Given the description of an element on the screen output the (x, y) to click on. 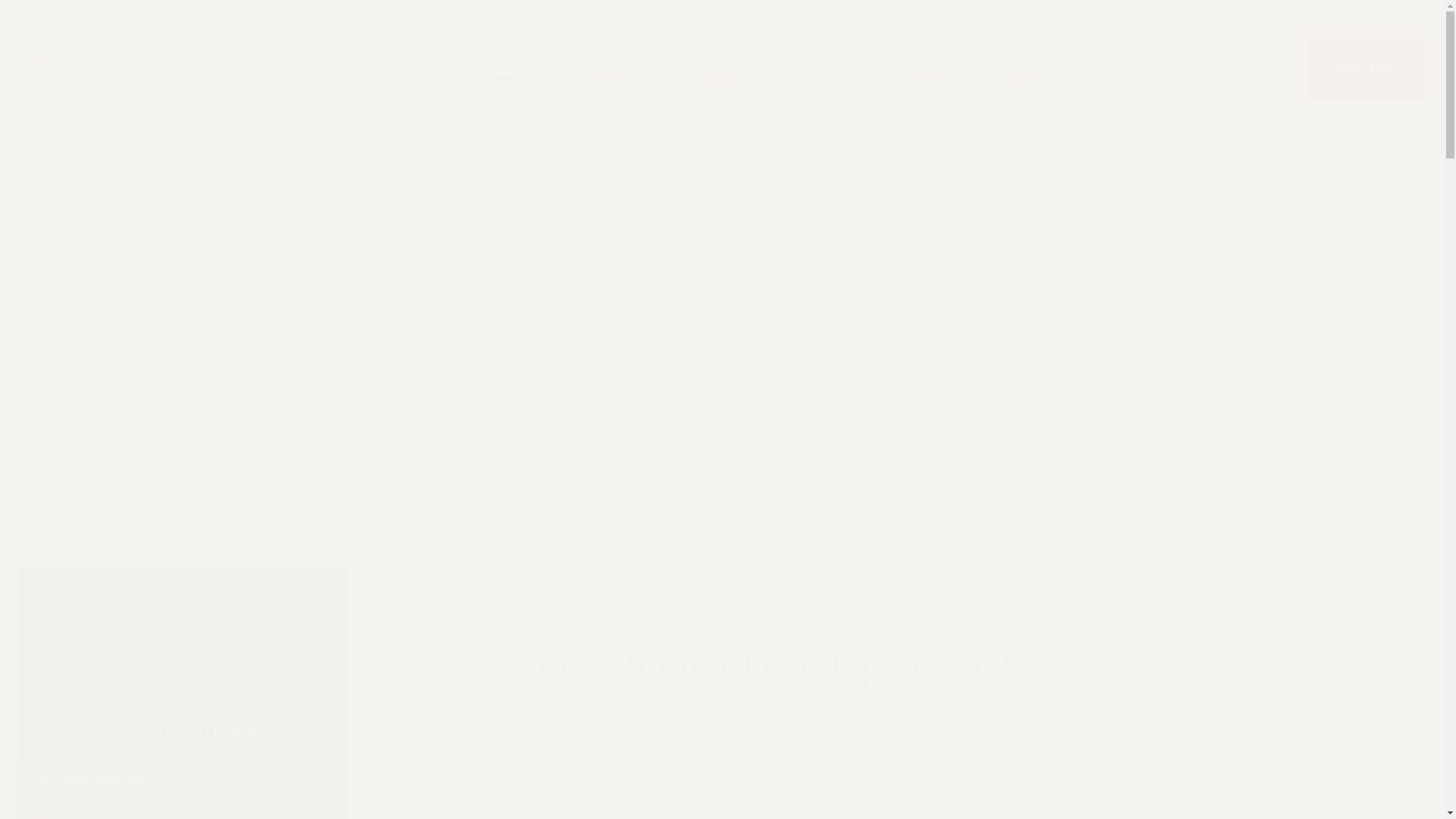
CONTRACTS (510, 63)
ABOUT US (401, 63)
